Given the description of an element on the screen output the (x, y) to click on. 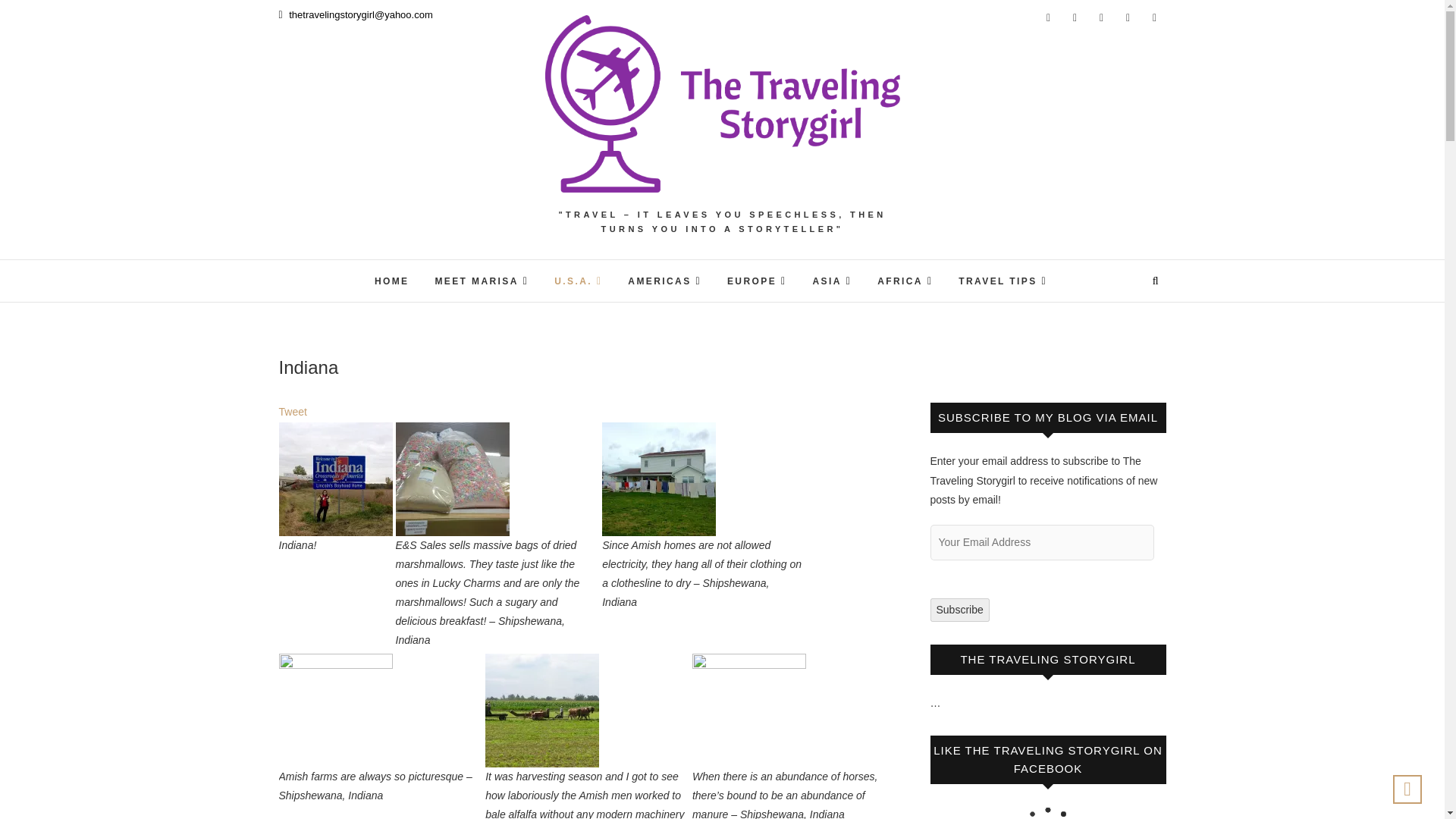
AMERICAS (664, 281)
U.S.A. (577, 281)
HOME (391, 282)
MEET MARISA (481, 281)
